Given the description of an element on the screen output the (x, y) to click on. 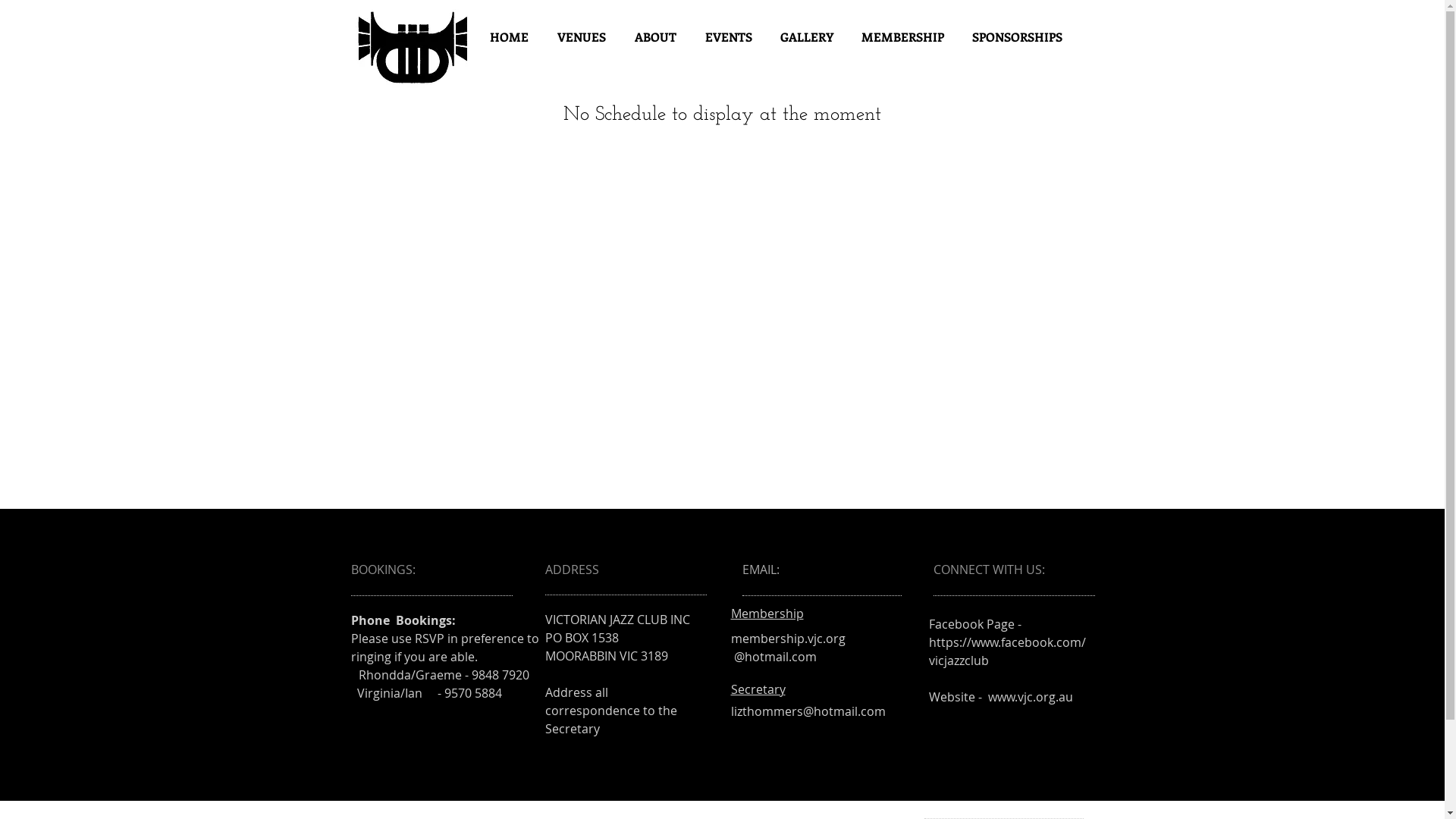
ABOUT Element type: text (655, 36)
www.vjc.org.au Element type: text (1029, 696)
SPONSORSHIPS Element type: text (1017, 36)
HOME Element type: text (508, 36)
GALLERY Element type: text (806, 36)
EVENTS Element type: text (727, 36)
MEMBERSHIP Element type: text (902, 36)
https://www.facebook.com/vicjazzclub Element type: text (1006, 650)
VENUES Element type: text (581, 36)
